Given the description of an element on the screen output the (x, y) to click on. 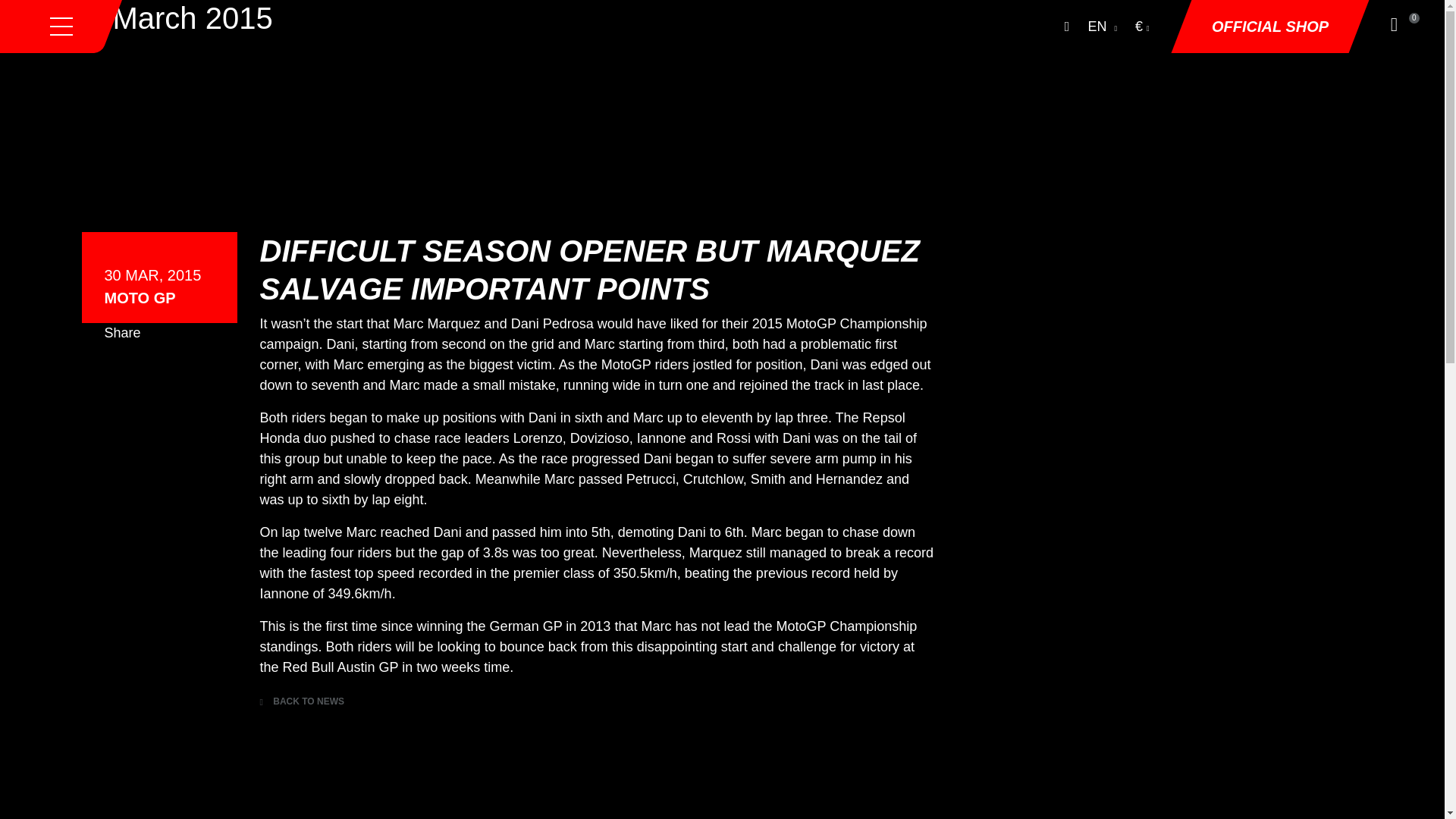
Share on Twitter (146, 376)
EN (1101, 26)
Share on Facebook (116, 376)
Share on WhatsApp (178, 376)
OFFICIAL SHOP (1269, 26)
BACK TO NEWS (301, 701)
